Given the description of an element on the screen output the (x, y) to click on. 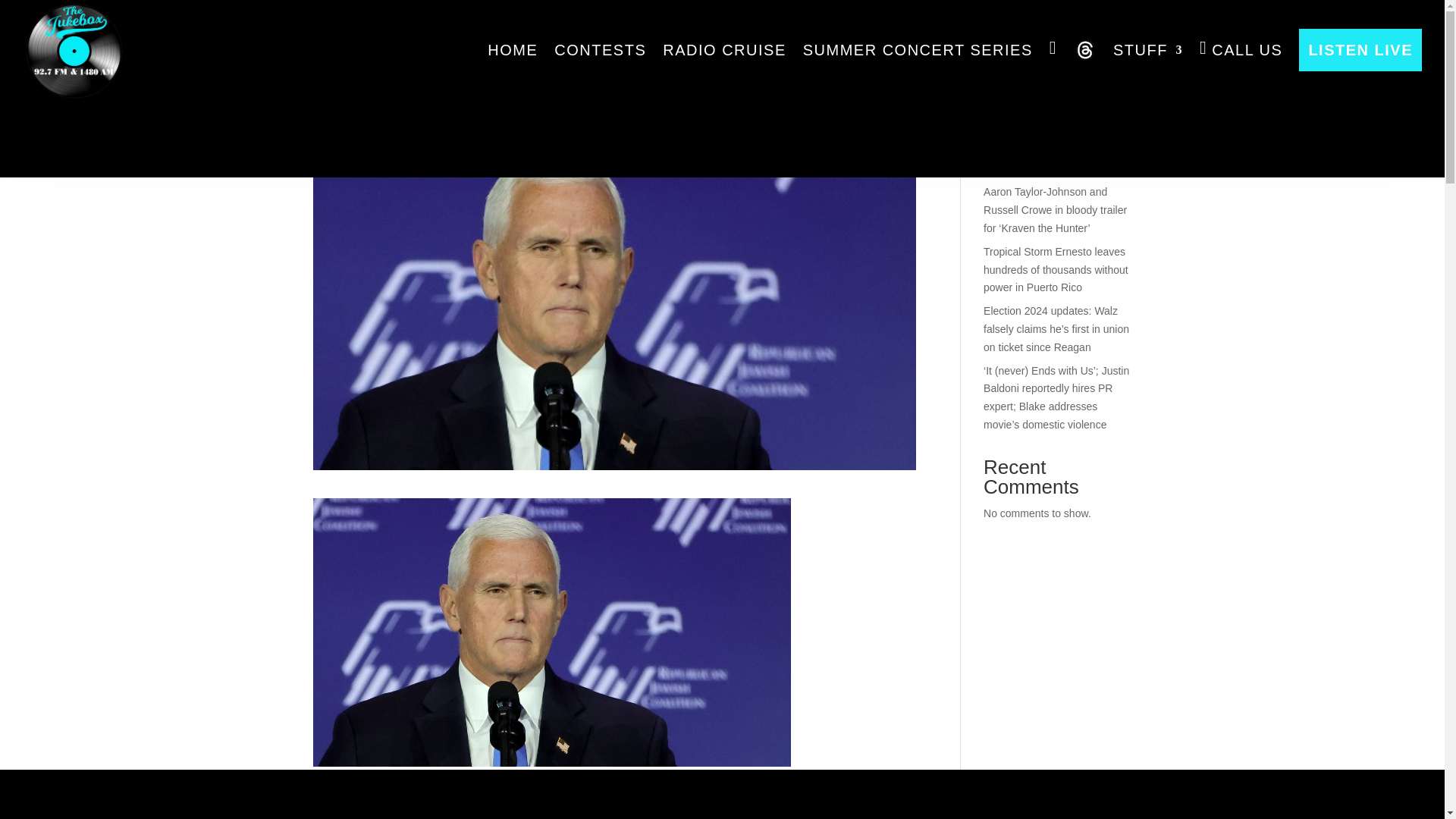
3rd party ad content (721, 101)
CONTESTS (600, 49)
LISTEN LIVE (1360, 49)
admin (340, 105)
Posts by admin (340, 105)
RADIO CRUISE (724, 49)
Search (1106, 59)
Politics (451, 105)
